Given the description of an element on the screen output the (x, y) to click on. 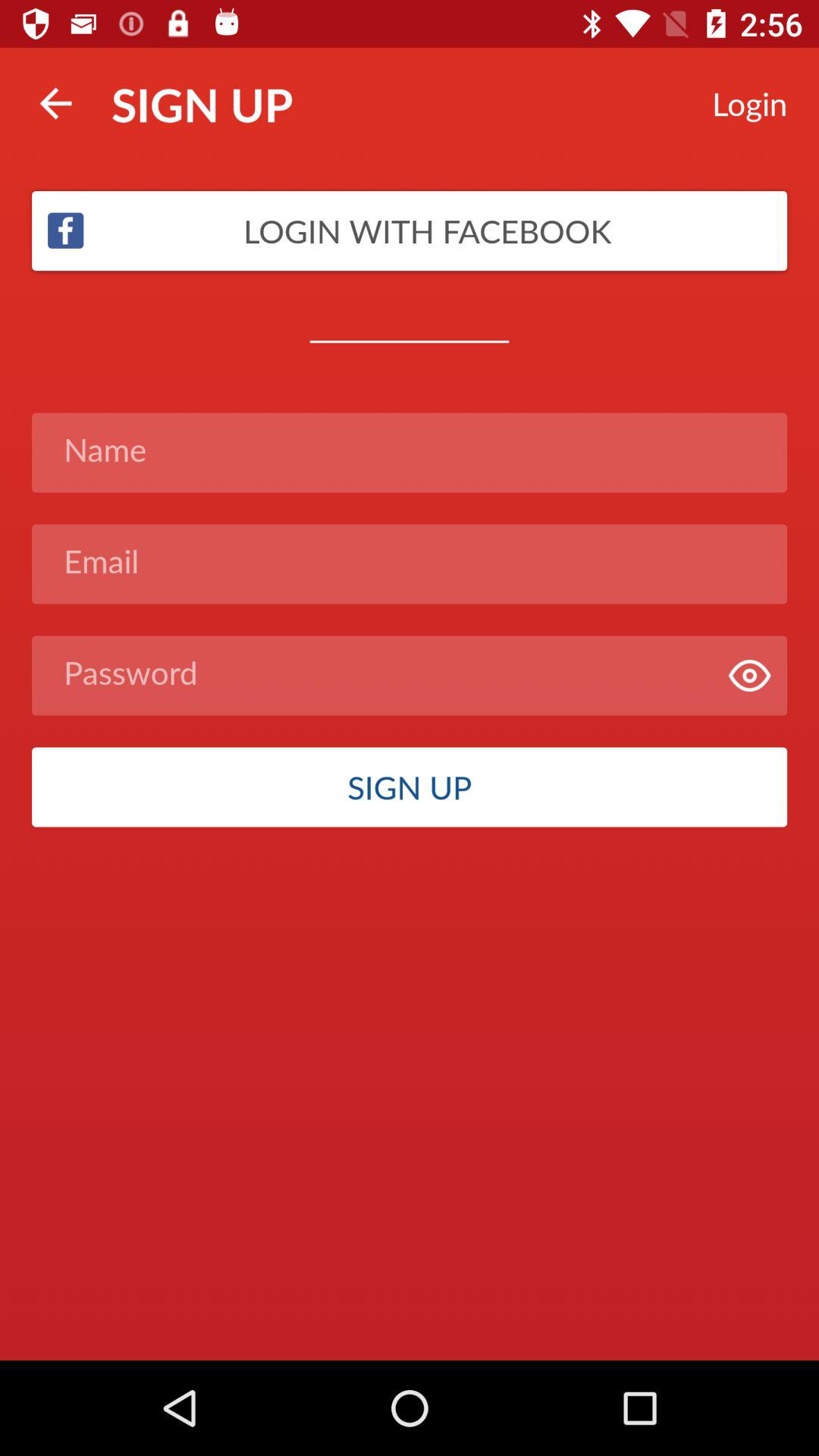
launch the icon above the sign up (749, 675)
